Given the description of an element on the screen output the (x, y) to click on. 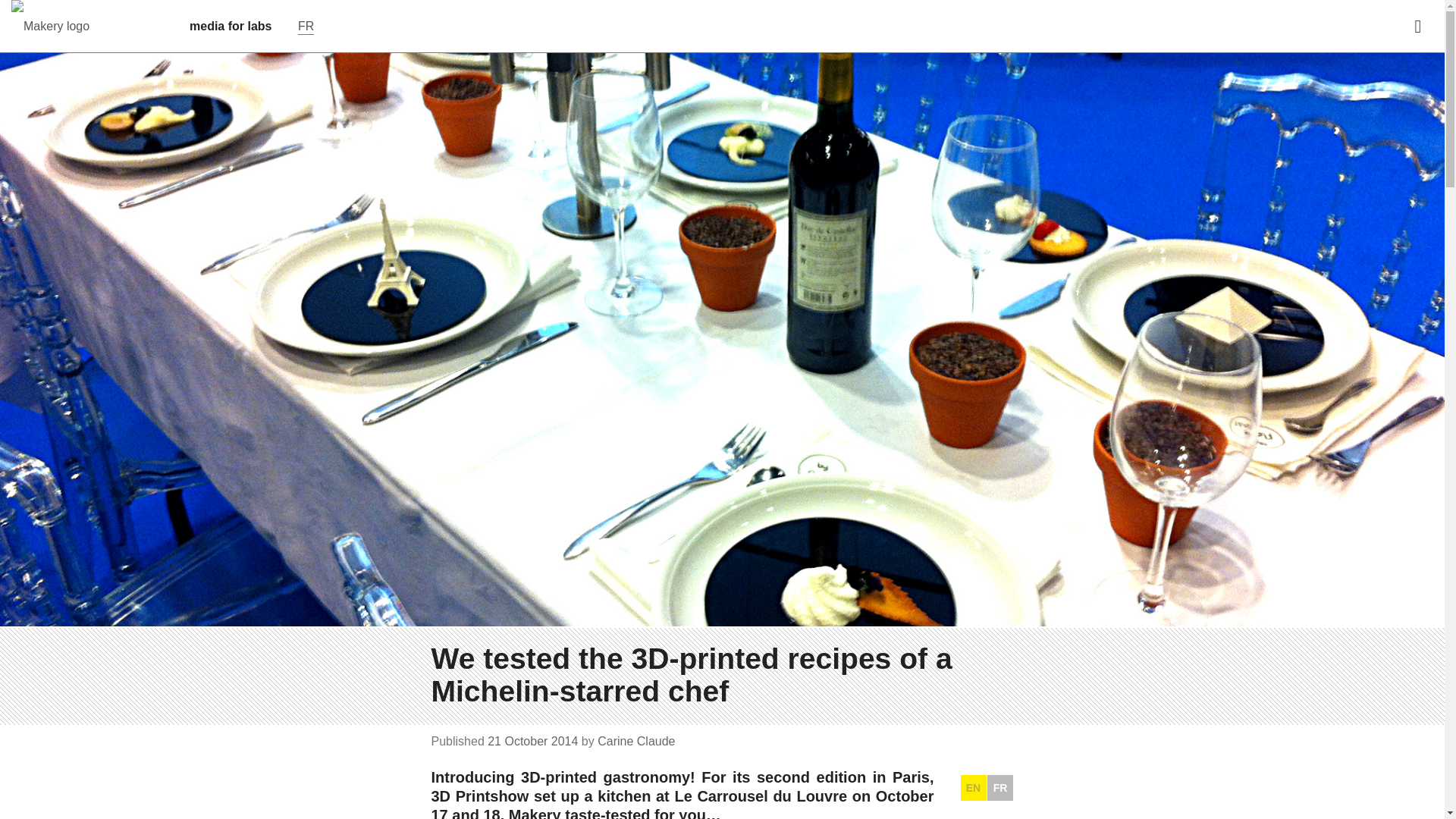
media for labs (229, 26)
FR (305, 26)
FR (1000, 787)
EN (972, 787)
Carine Claude (635, 740)
